Given the description of an element on the screen output the (x, y) to click on. 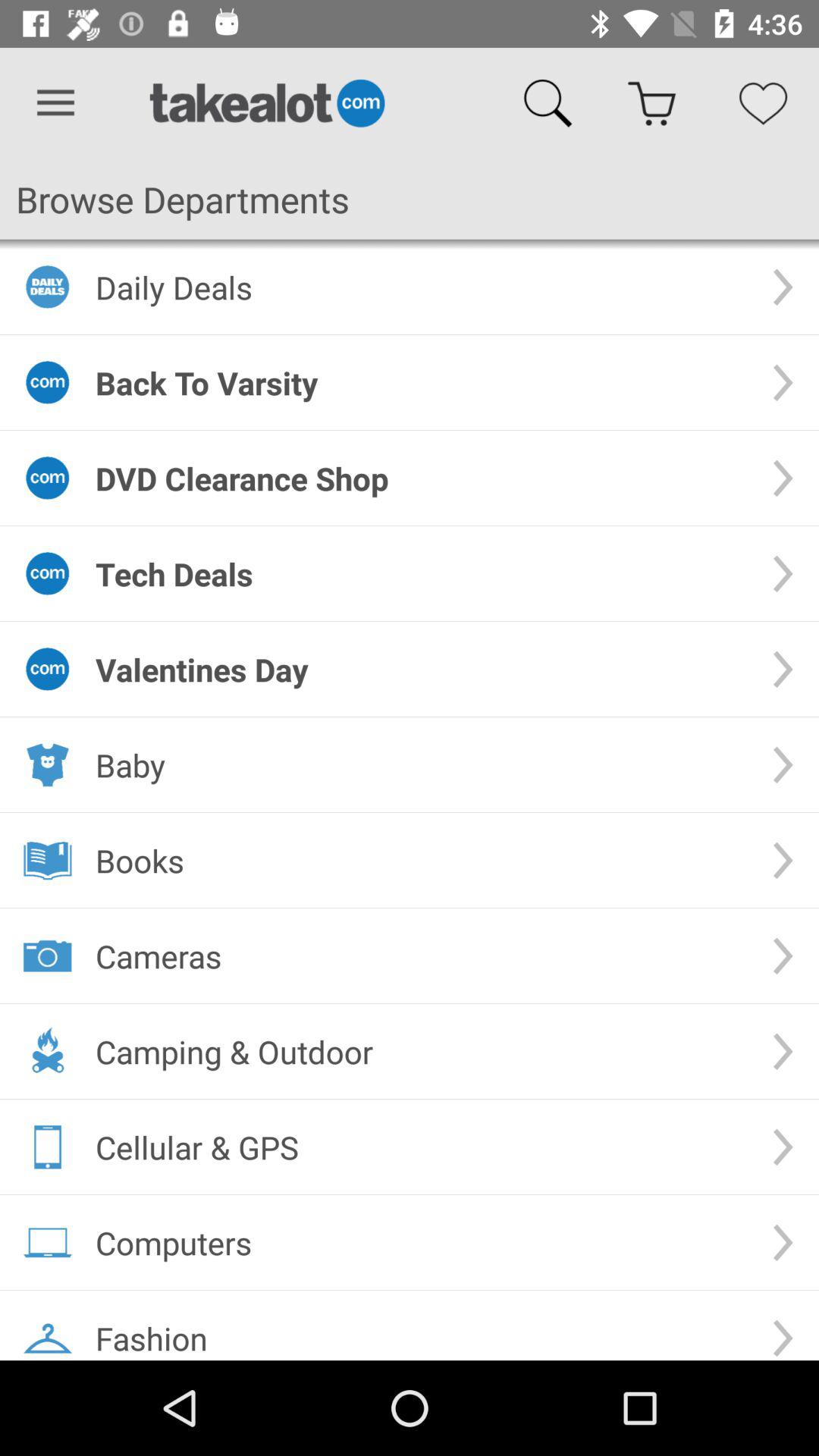
click the cameras item (421, 955)
